Given the description of an element on the screen output the (x, y) to click on. 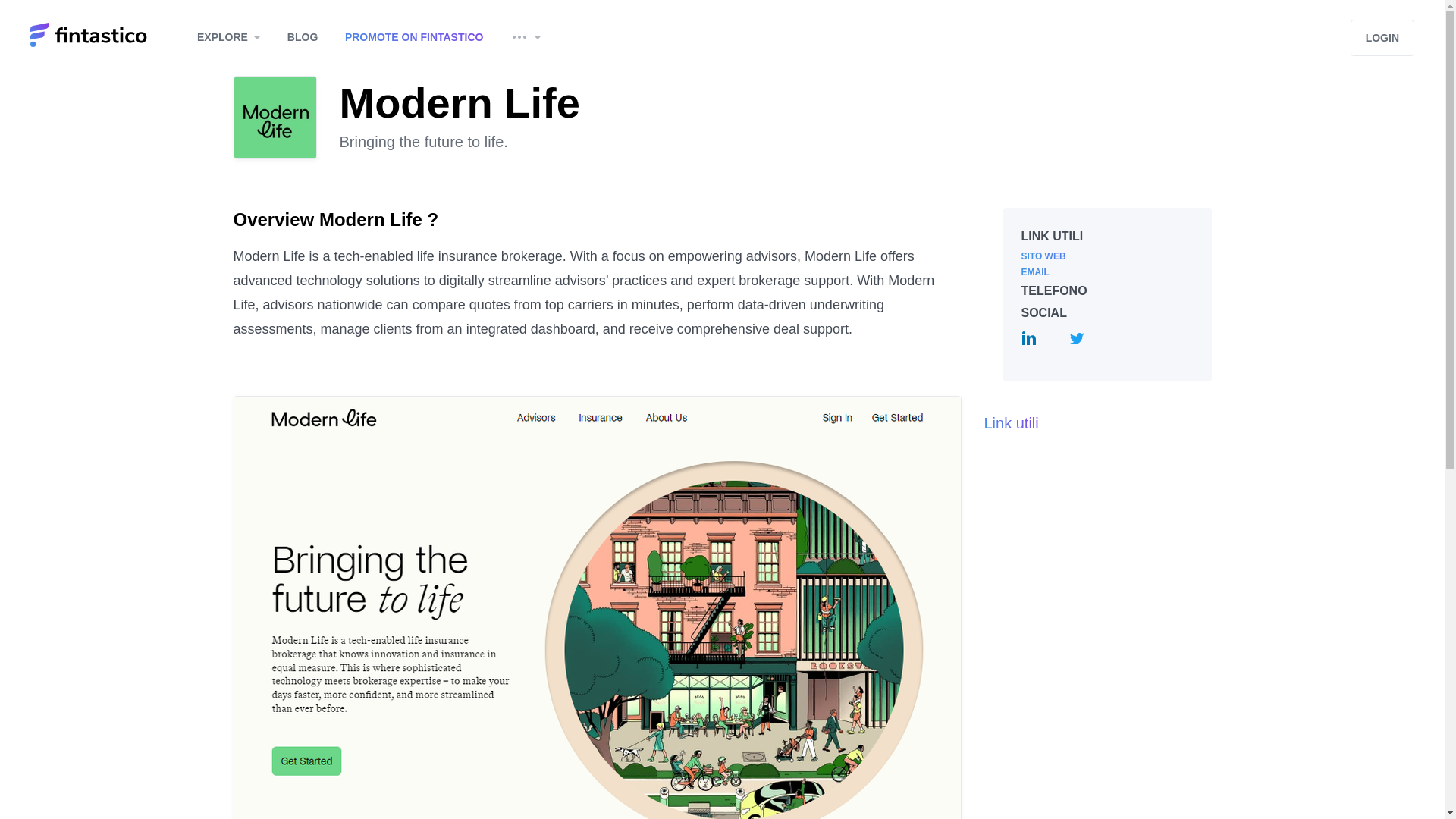
LOGIN (1382, 37)
EXPLORE (228, 36)
Fintastico (108, 36)
PROMOTE ON FINTASTICO (414, 36)
